Given the description of an element on the screen output the (x, y) to click on. 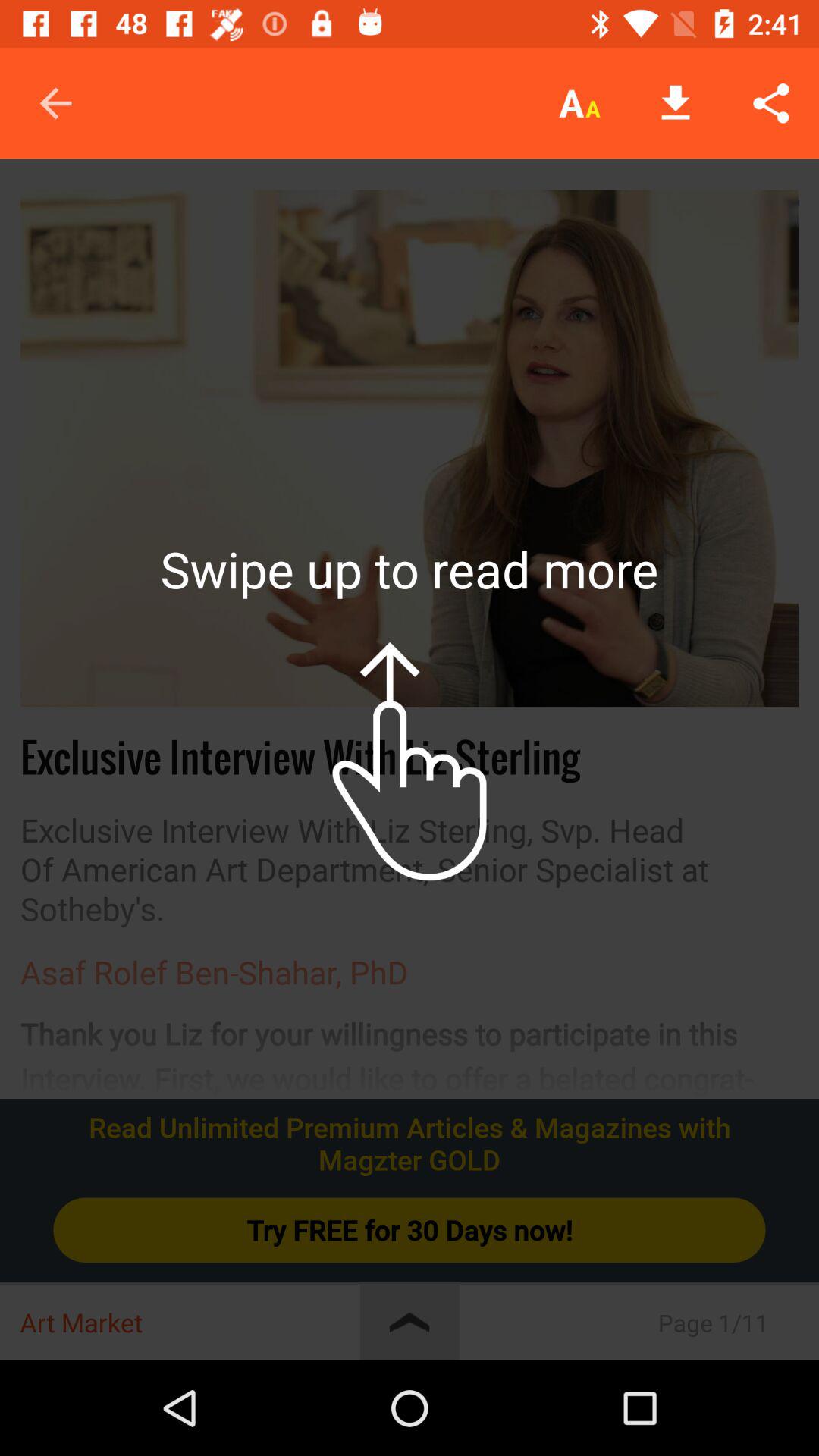
jump until the art market (189, 1322)
